Given the description of an element on the screen output the (x, y) to click on. 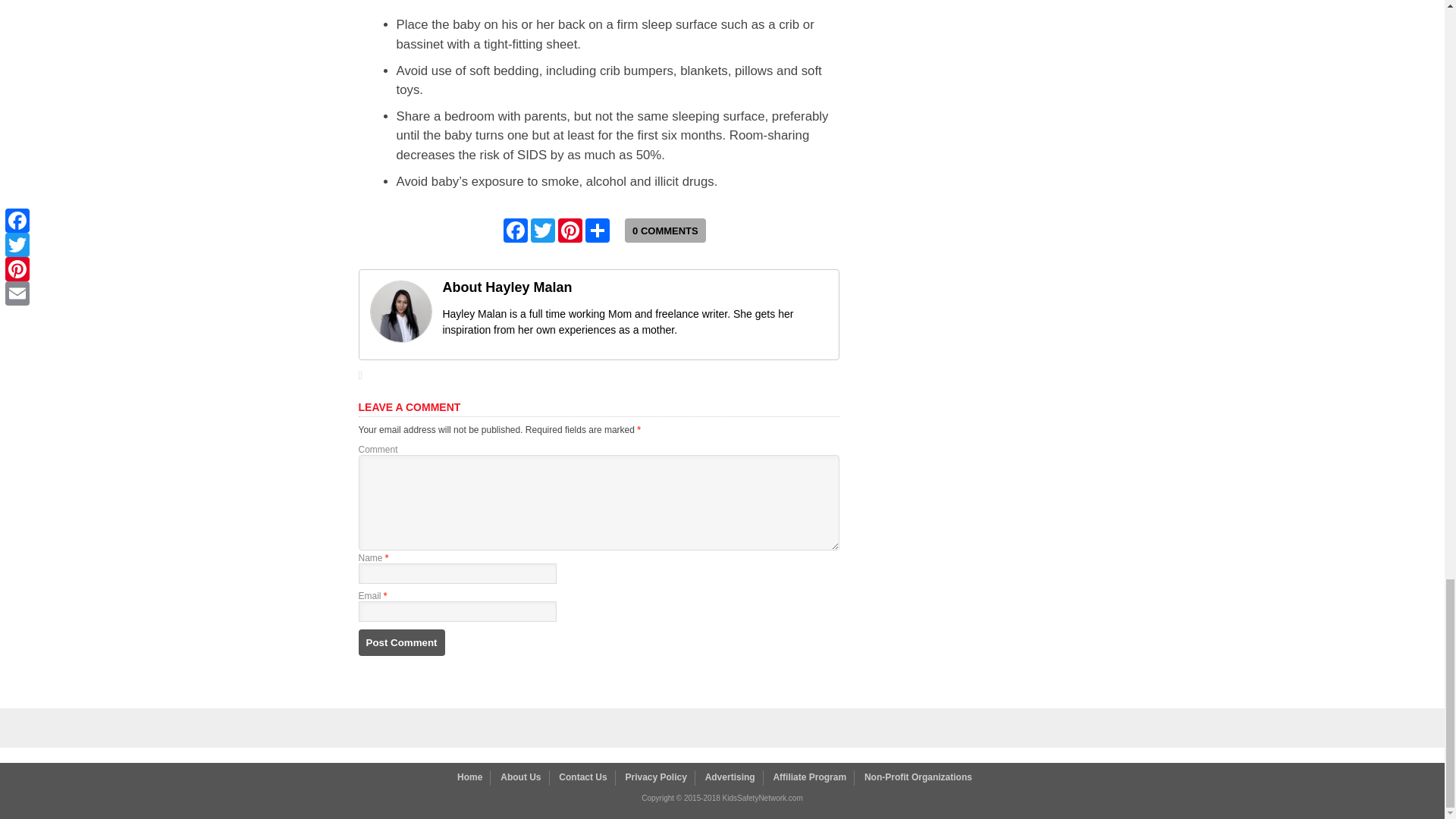
Post Comment (401, 642)
